Given the description of an element on the screen output the (x, y) to click on. 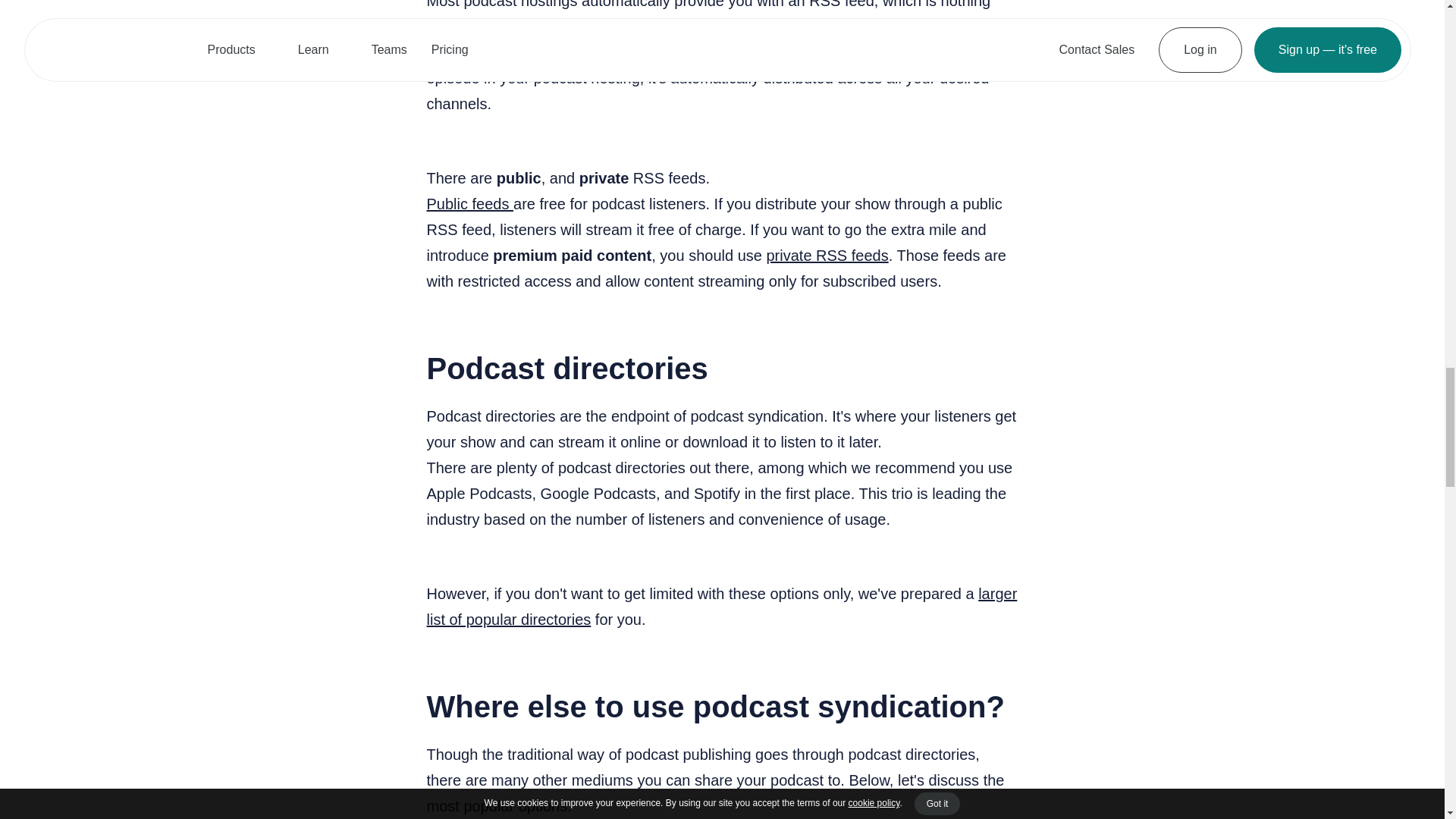
Public feeds (469, 203)
larger list of popular directories (721, 606)
private RSS feeds (826, 255)
